Given the description of an element on the screen output the (x, y) to click on. 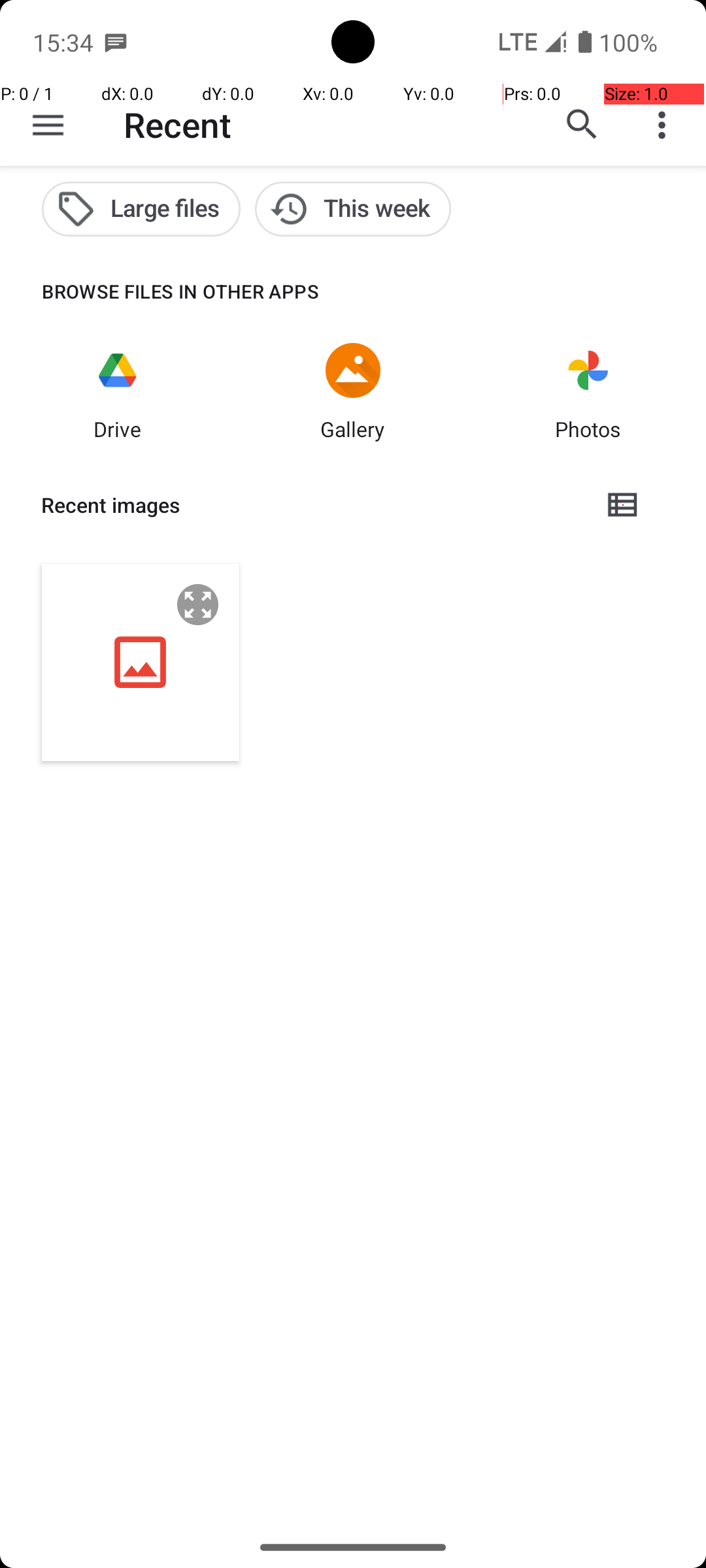
Recent images Element type: android.widget.TextView (311, 504)
IMG_20231015_153418.jpg, 30.95 kB, 15:34 Element type: android.widget.LinearLayout (140, 662)
Preview the file IMG_20231015_153418.jpg Element type: android.widget.FrameLayout (197, 604)
